Given the description of an element on the screen output the (x, y) to click on. 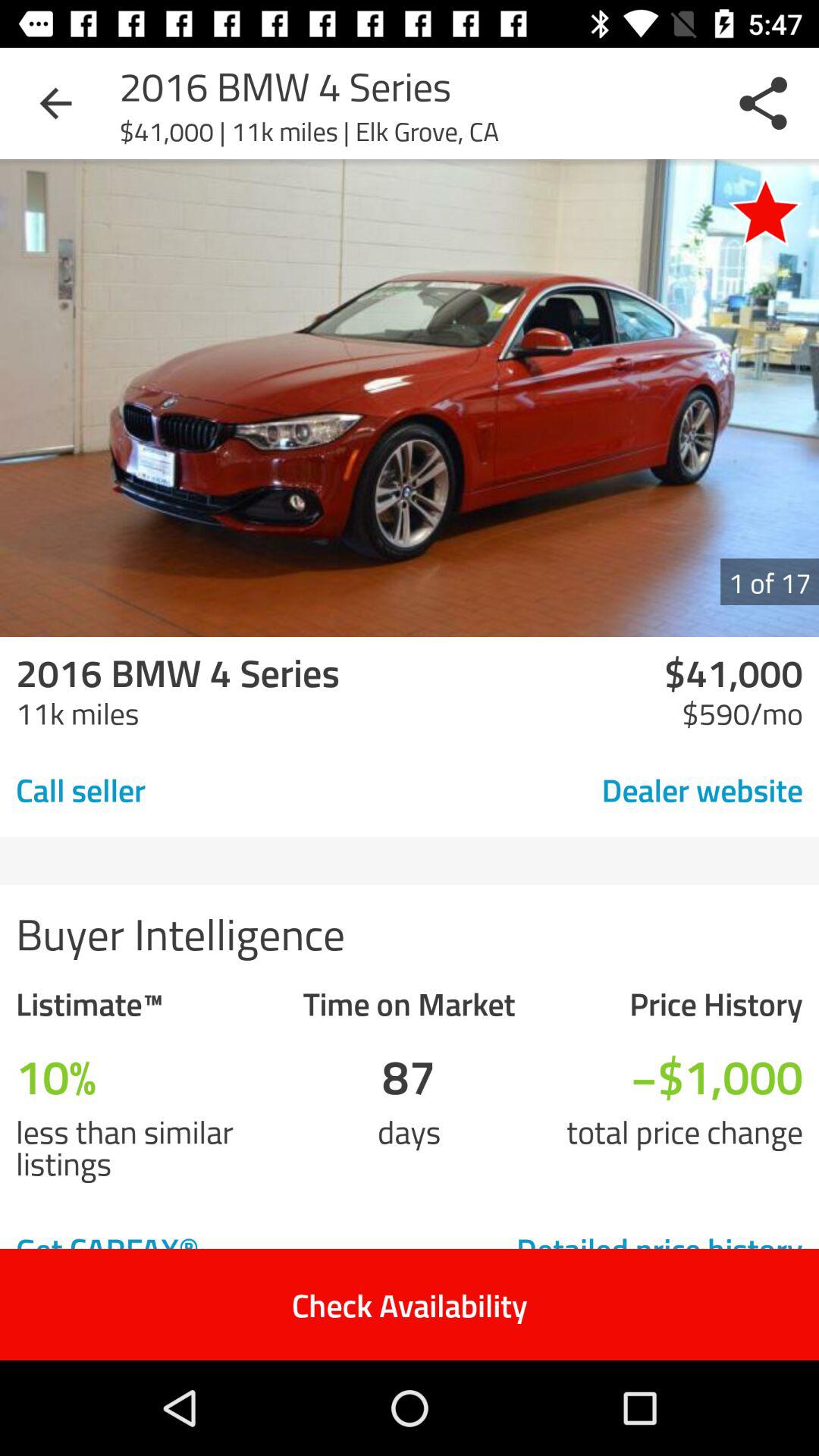
tap the icon to the right of the call seller (596, 789)
